Given the description of an element on the screen output the (x, y) to click on. 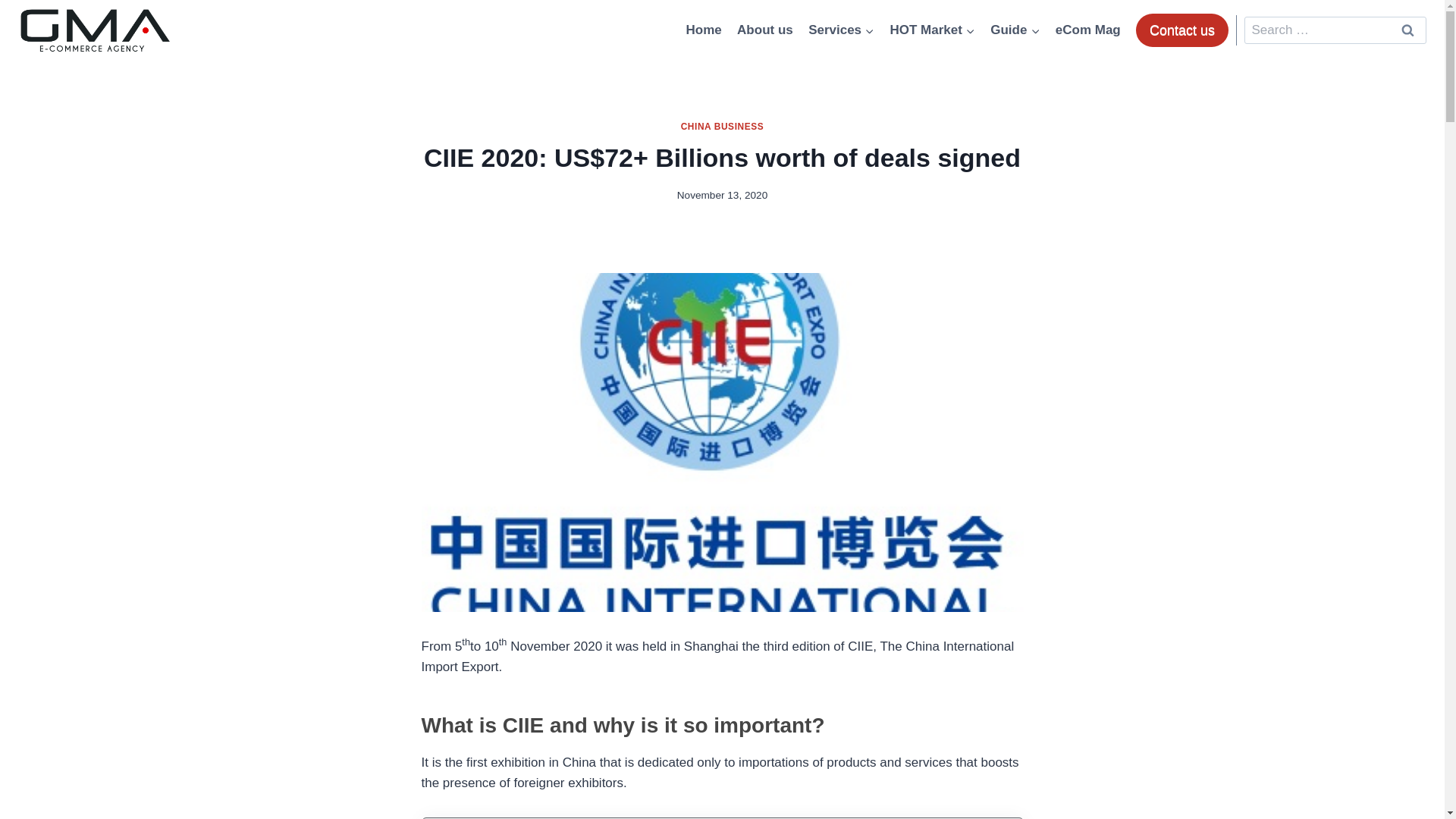
Search (1407, 29)
Home (703, 30)
About us (764, 30)
Guide (1015, 30)
HOT Market (932, 30)
Search (1407, 29)
Services (841, 30)
